Given the description of an element on the screen output the (x, y) to click on. 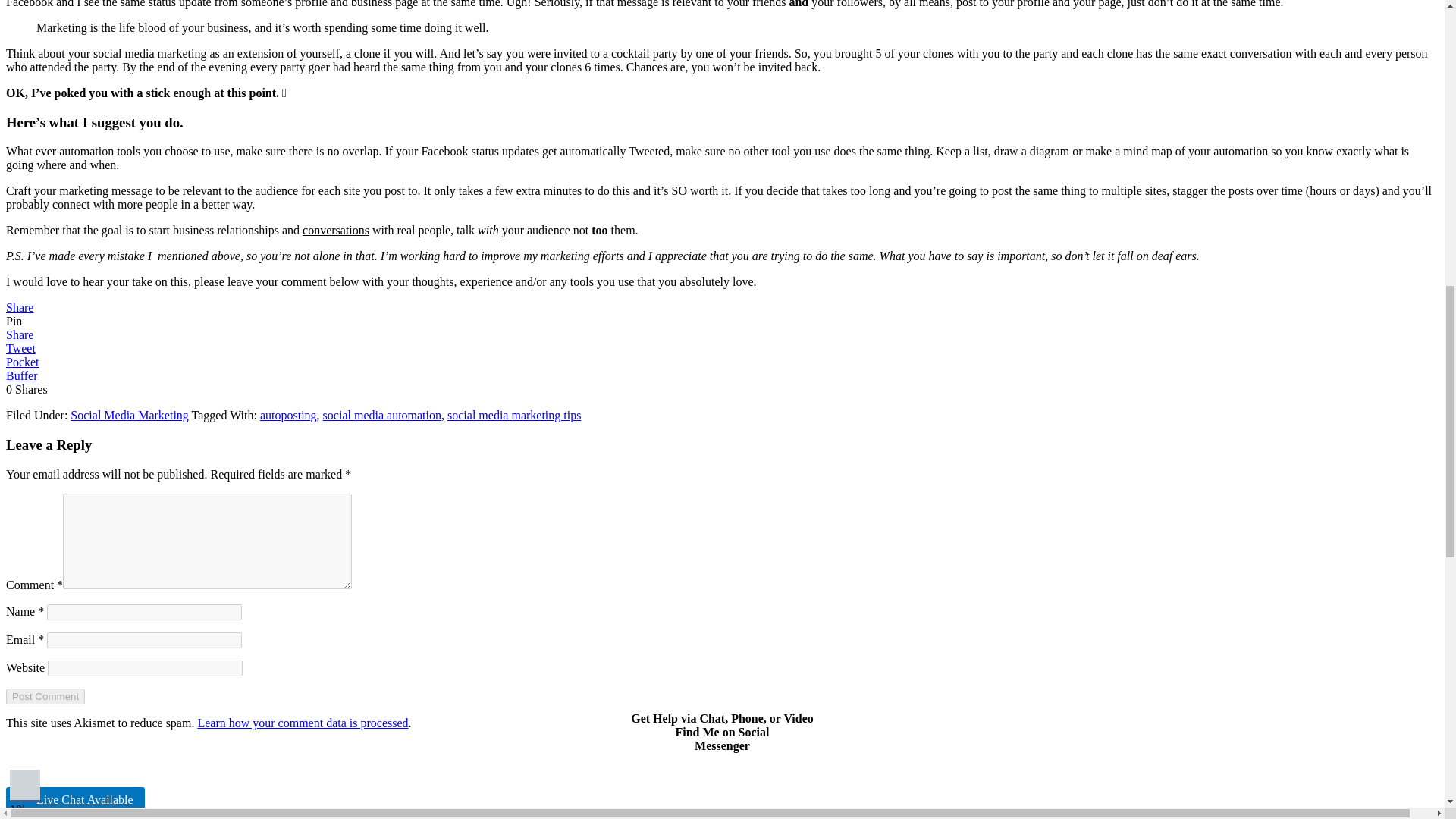
Tweet (19, 348)
autoposting (288, 414)
Pocket (22, 361)
Buffer (21, 375)
social media automation (382, 414)
Social Media Marketing (129, 414)
Post Comment (44, 696)
Live Chat Available (74, 800)
social media marketing tips (513, 414)
Share (19, 334)
Post Comment (44, 696)
Facebook (25, 784)
Share (19, 307)
Learn how your comment data is processed (301, 722)
Pin (13, 320)
